Given the description of an element on the screen output the (x, y) to click on. 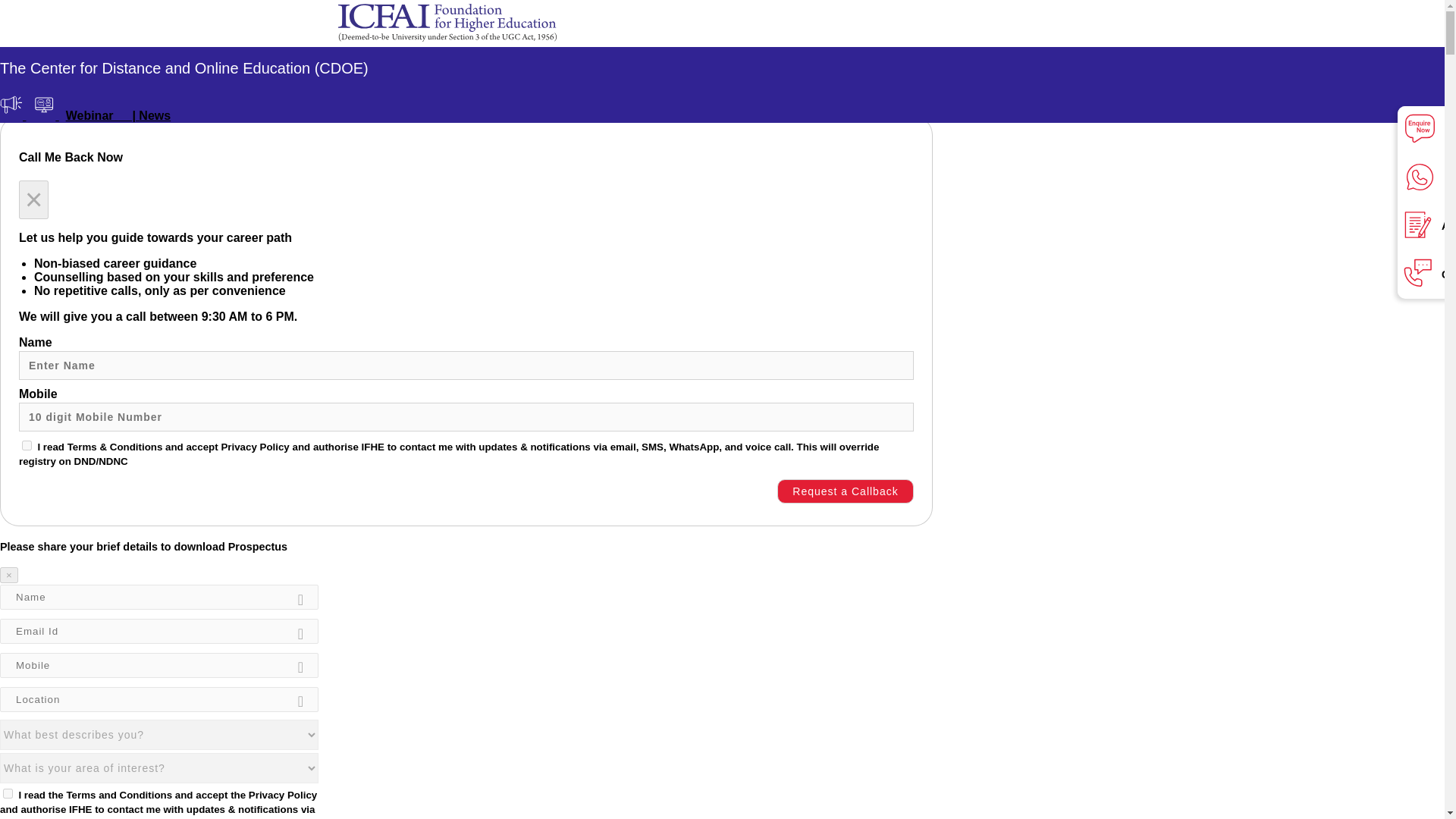
HAPPENINGS (288, 56)
Webinars (45, 115)
CONTACT (405, 56)
on (26, 445)
ADMISSIONS (204, 56)
PROGRAM (128, 56)
Media (13, 115)
on (7, 793)
BLOG (354, 56)
Request a Callback (845, 491)
ABOUT US (54, 56)
STUDENT LOGIN (486, 56)
